Given the description of an element on the screen output the (x, y) to click on. 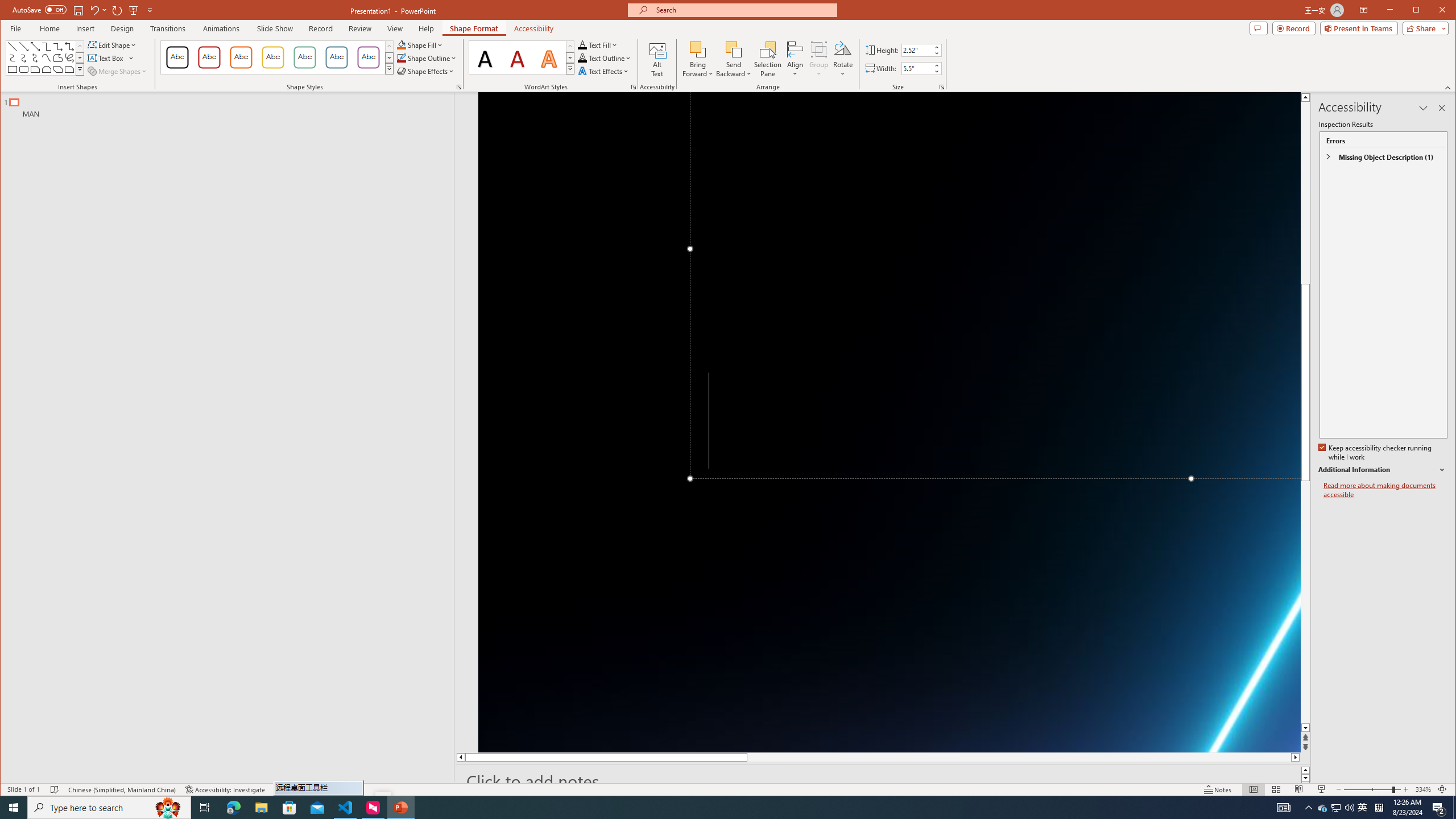
Connector: Elbow Double-Arrow (69, 46)
AutomationID: TextStylesGallery (521, 57)
Merge Shapes (118, 70)
Colored Outline - Black, Dark 1 (177, 57)
Rotate (842, 59)
